Given the description of an element on the screen output the (x, y) to click on. 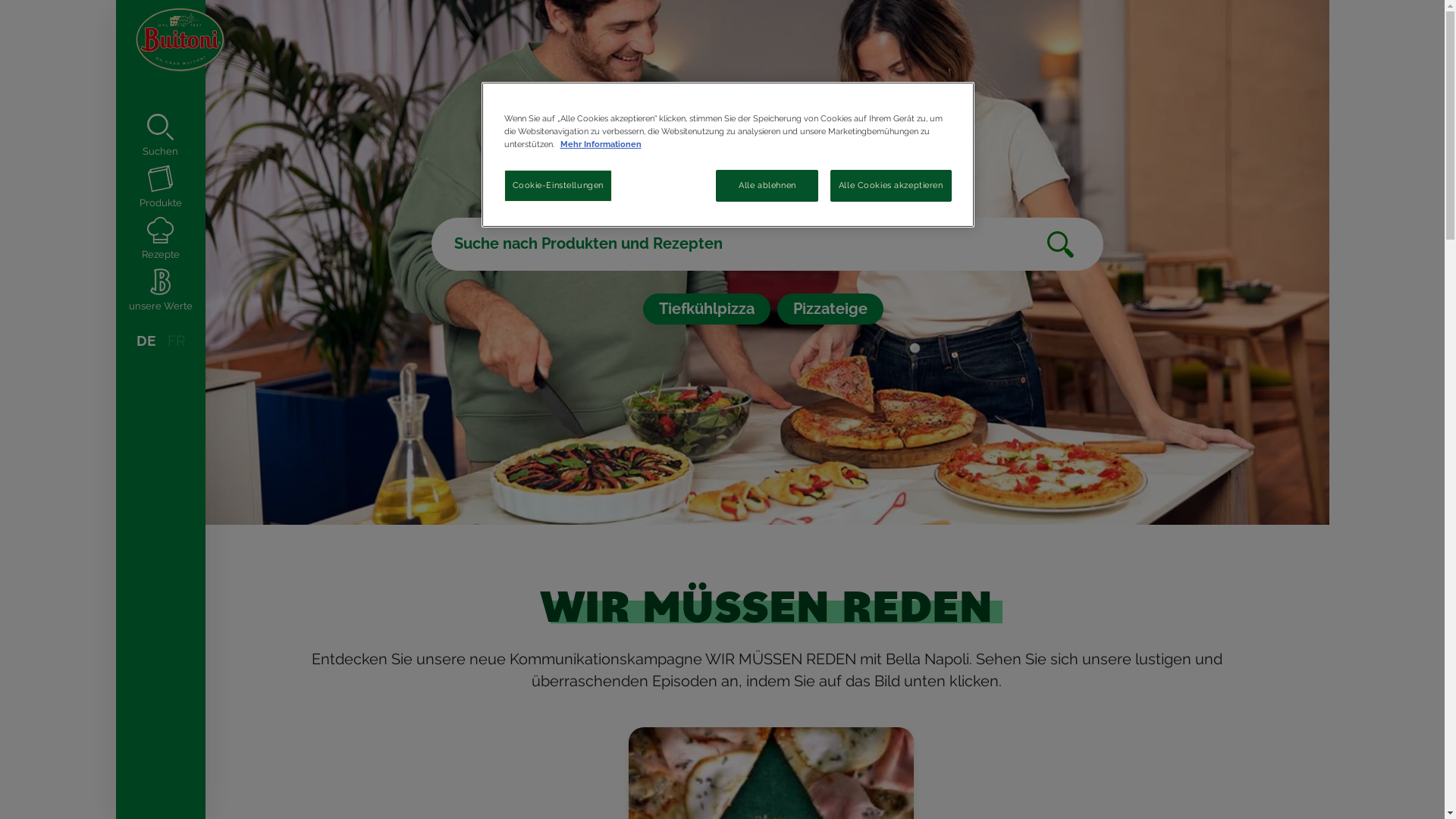
Pizzateige Element type: text (830, 308)
Cookie-Einstellungen Element type: text (557, 185)
Buitoni Element type: hover (159, 36)
Rezepte Element type: text (159, 238)
FR Element type: text (175, 340)
unsere Werte Element type: text (159, 290)
Mehr Informationen Element type: text (599, 143)
DE Element type: text (145, 340)
Produkte Element type: text (159, 187)
Suchen Element type: text (159, 135)
DE Element type: text (134, 20)
FR Element type: text (171, 20)
Alle ablehnen Element type: text (766, 185)
Suche nach Produkten und Rezepten Element type: text (766, 243)
Alle Cookies akzeptieren Element type: text (890, 185)
